Given the description of an element on the screen output the (x, y) to click on. 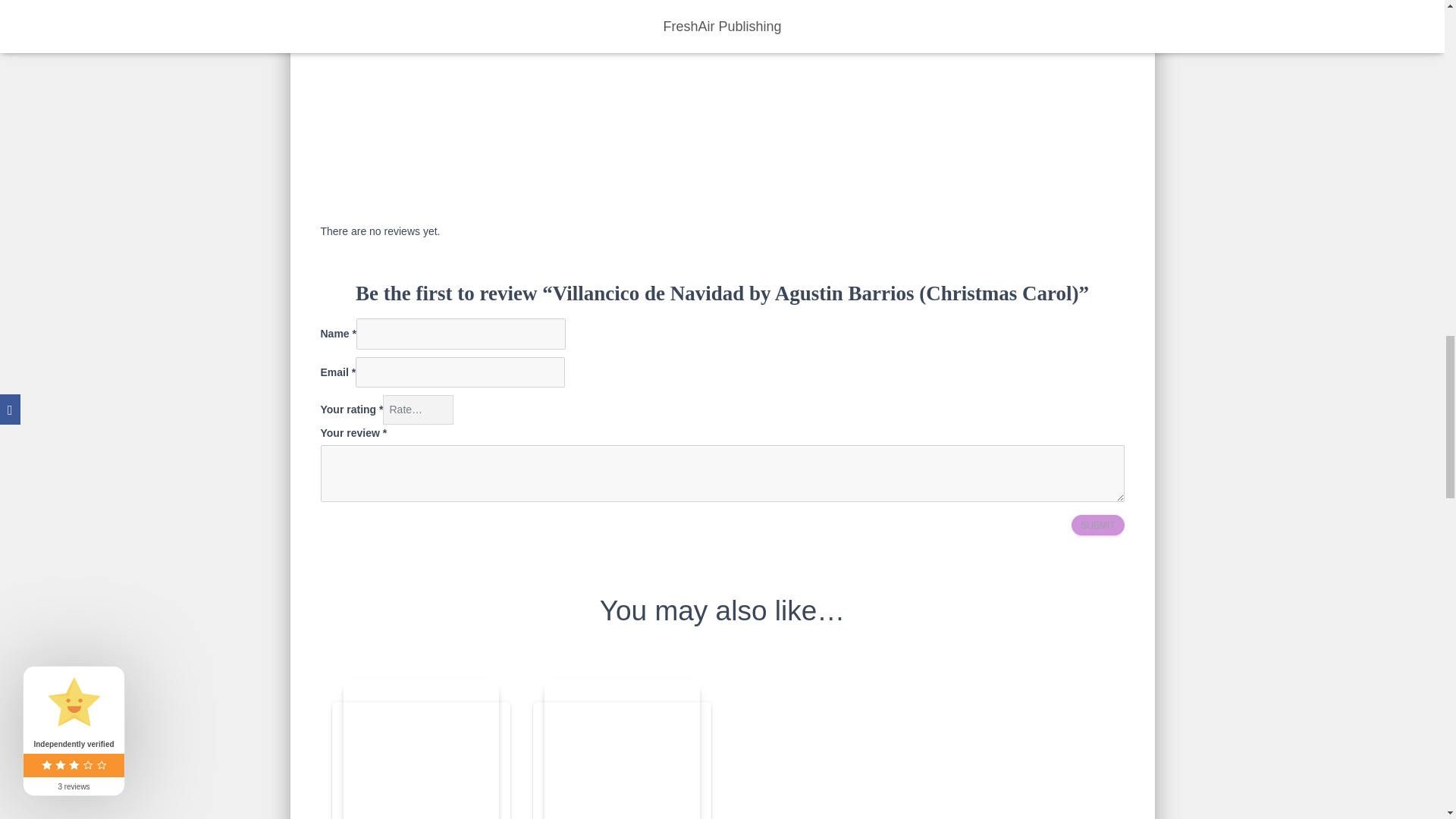
Submit (1097, 525)
The Bees CAGED by Rhayn Jooste (419, 749)
Submit (1097, 525)
